Given the description of an element on the screen output the (x, y) to click on. 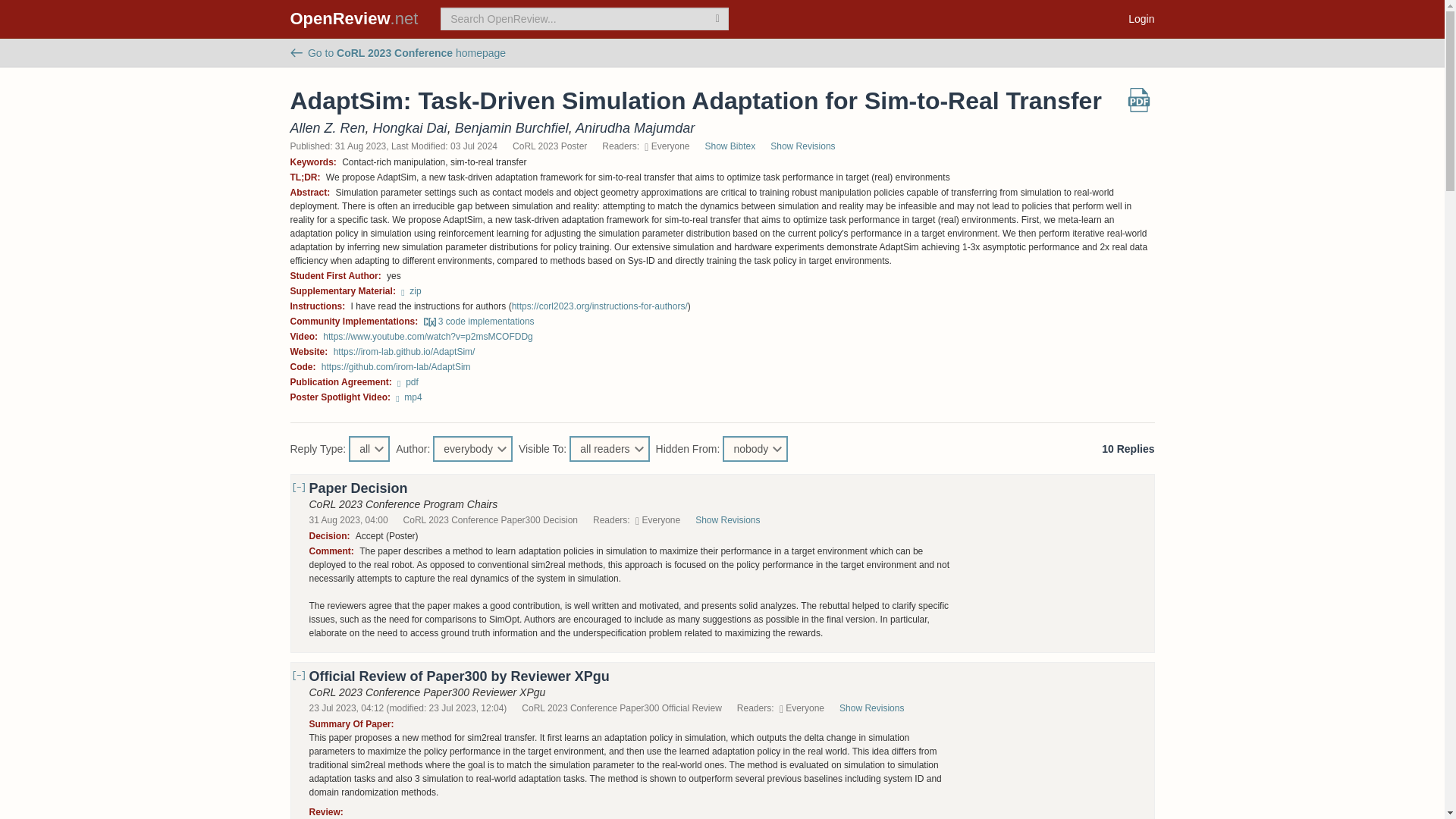
Download PDF (1138, 105)
Show Bibtex (729, 145)
all readers (609, 448)
Collapse reply thread (299, 740)
everybody (472, 448)
Anirudha Majumdar (634, 127)
Download Publication Agreement (408, 381)
Go to CoRL 2023 Conference homepage (397, 52)
Download Poster Spotlight Video (409, 397)
Allen Z. Ren (327, 127)
Show Revisions (810, 145)
  mp4 (409, 397)
OpenReview.net (354, 18)
Hongkai Dai (409, 127)
Download Supplementary Material (410, 290)
